Given the description of an element on the screen output the (x, y) to click on. 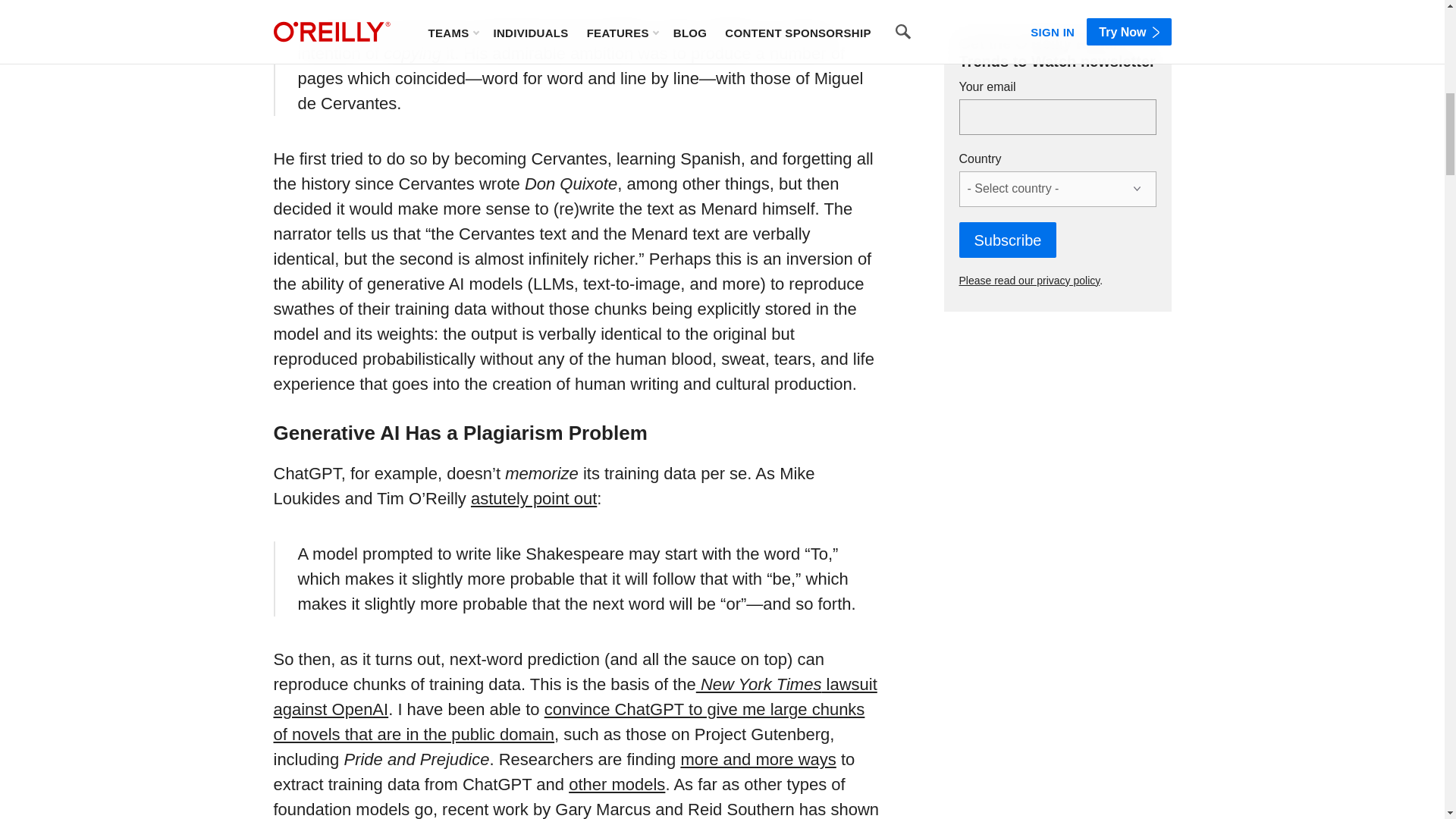
Subscribe (1007, 239)
Please read our privacy policy (1028, 280)
